Given the description of an element on the screen output the (x, y) to click on. 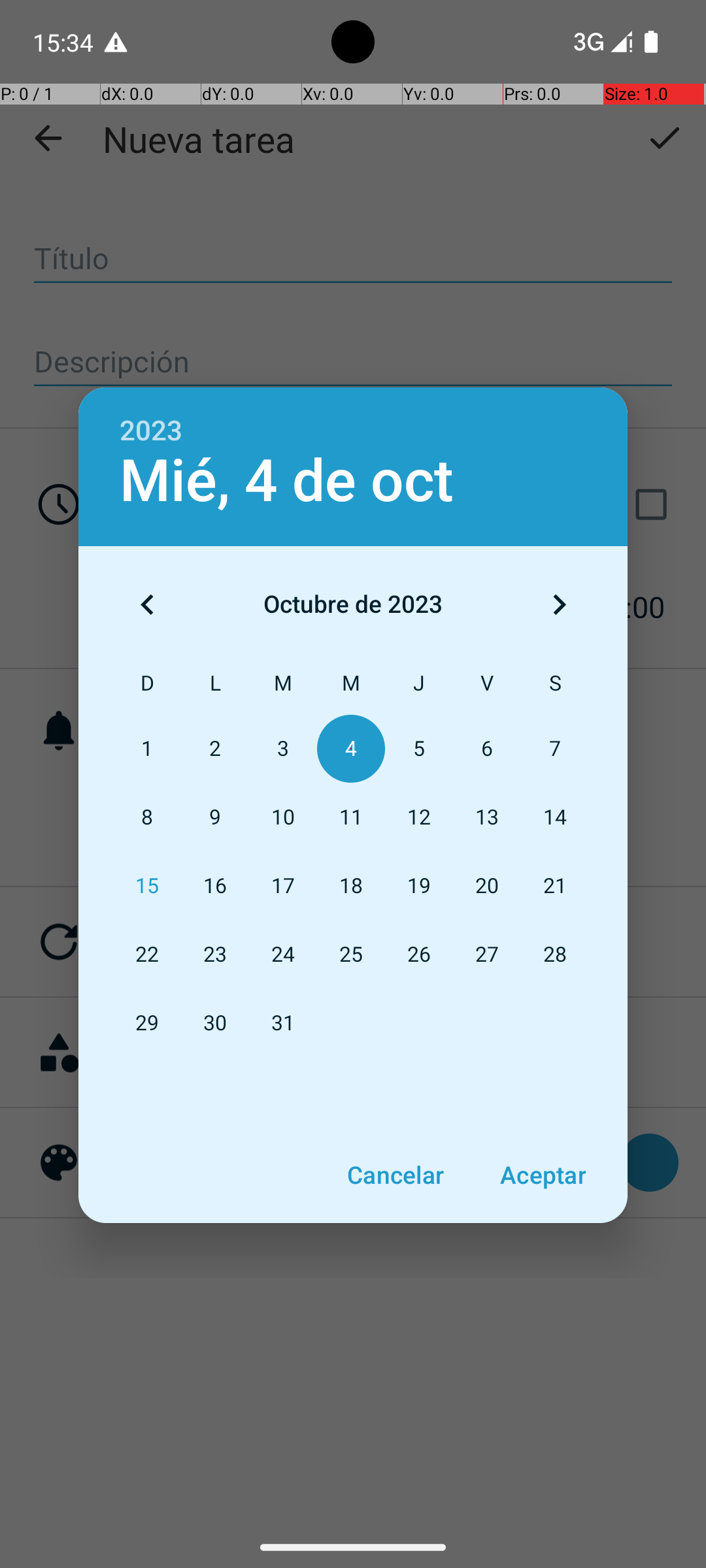
Mié, 4 de oct Element type: android.widget.TextView (286, 480)
Mes anterior Element type: android.widget.ImageButton (146, 604)
Mes siguiente Element type: android.widget.ImageButton (558, 604)
Cancelar Element type: android.widget.Button (394, 1174)
Aceptar Element type: android.widget.Button (542, 1174)
